Given the description of an element on the screen output the (x, y) to click on. 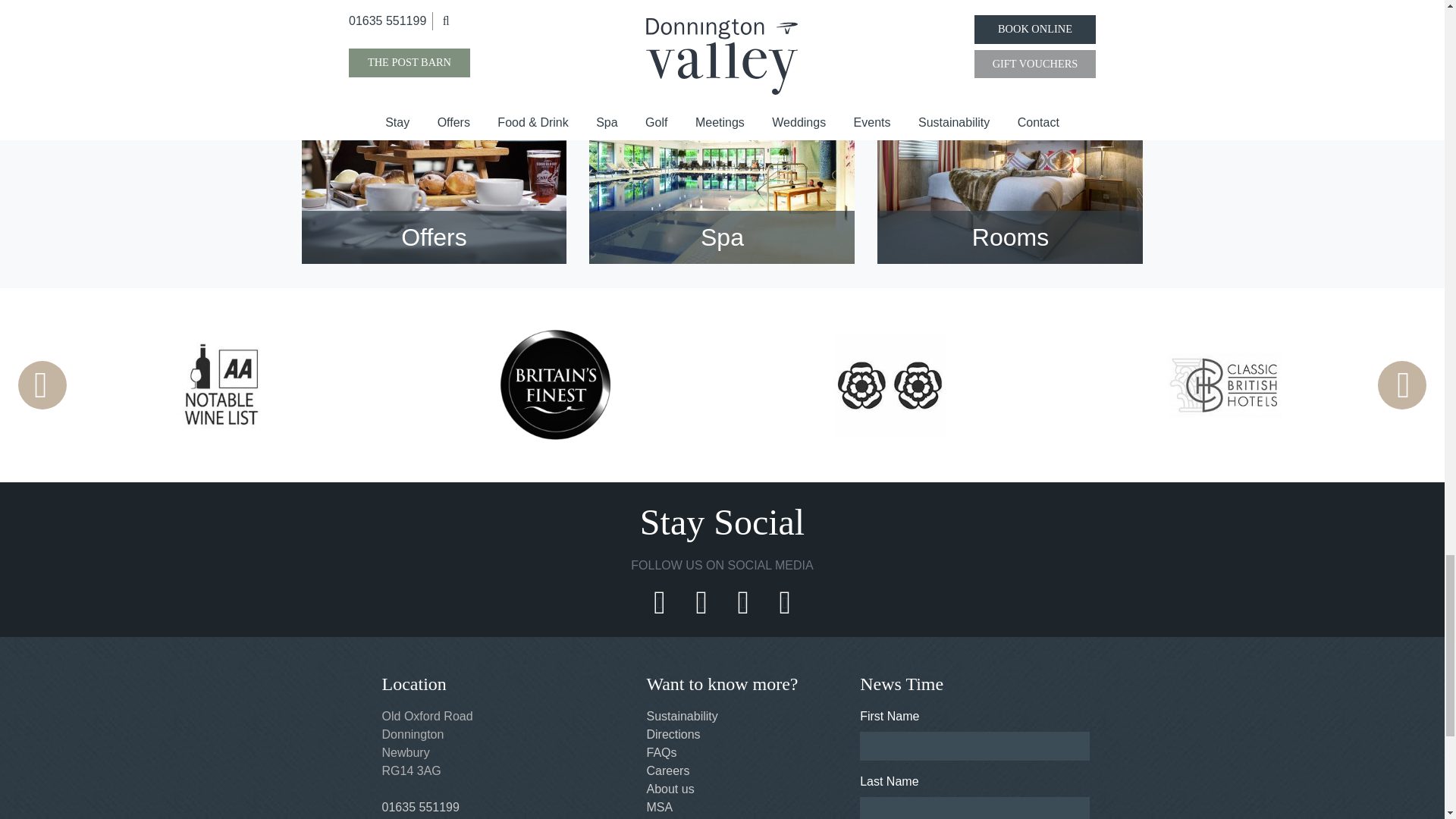
2 rosette dining (889, 384)
Britain's Finest (555, 385)
AA Notable Wine List (220, 385)
Classic British Hotels (1224, 384)
